Given the description of an element on the screen output the (x, y) to click on. 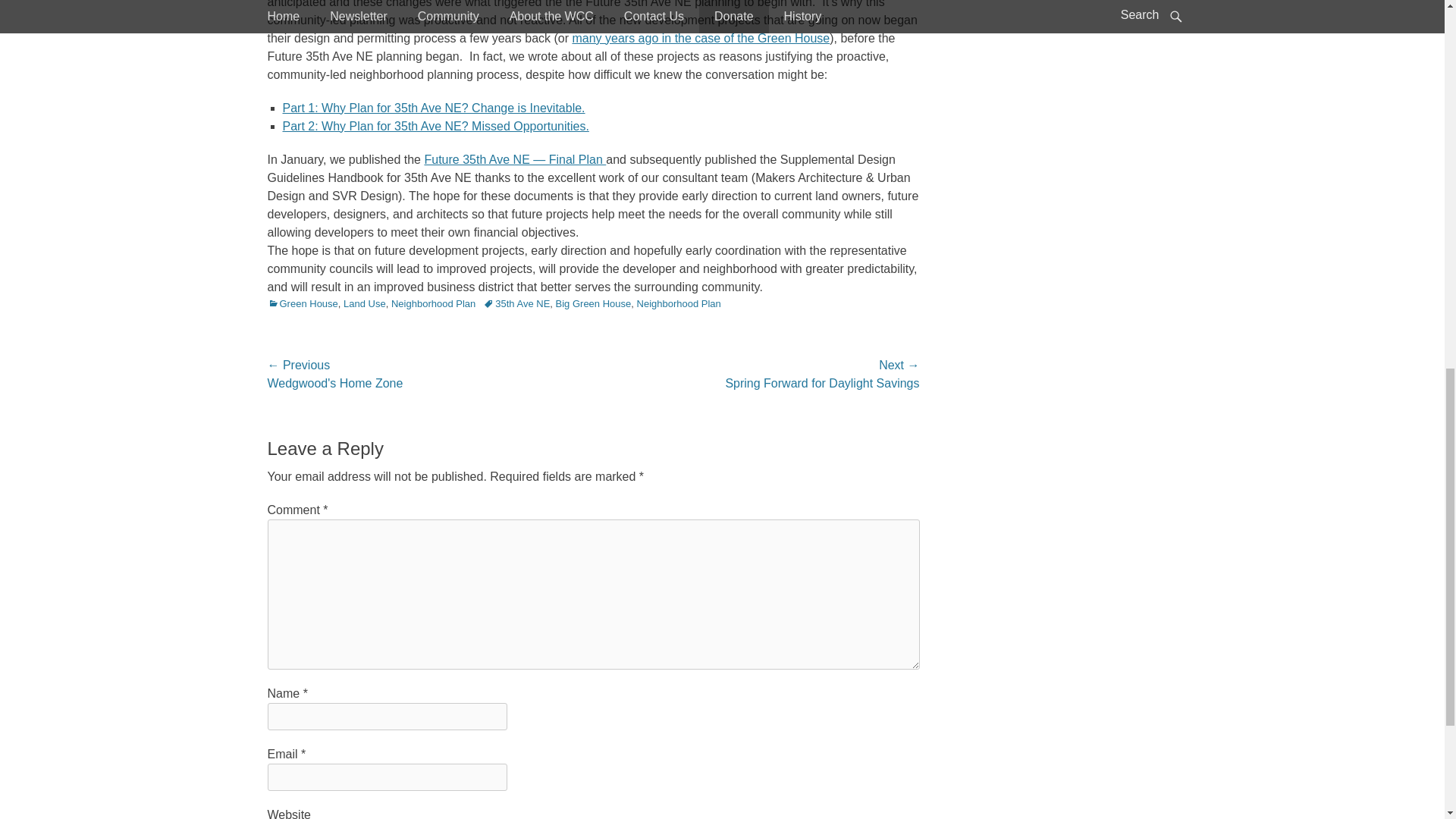
many years ago in the case of the Green House (700, 38)
Part 1: Why Plan for 35th Ave NE? Change is Inevitable. (433, 107)
